Given the description of an element on the screen output the (x, y) to click on. 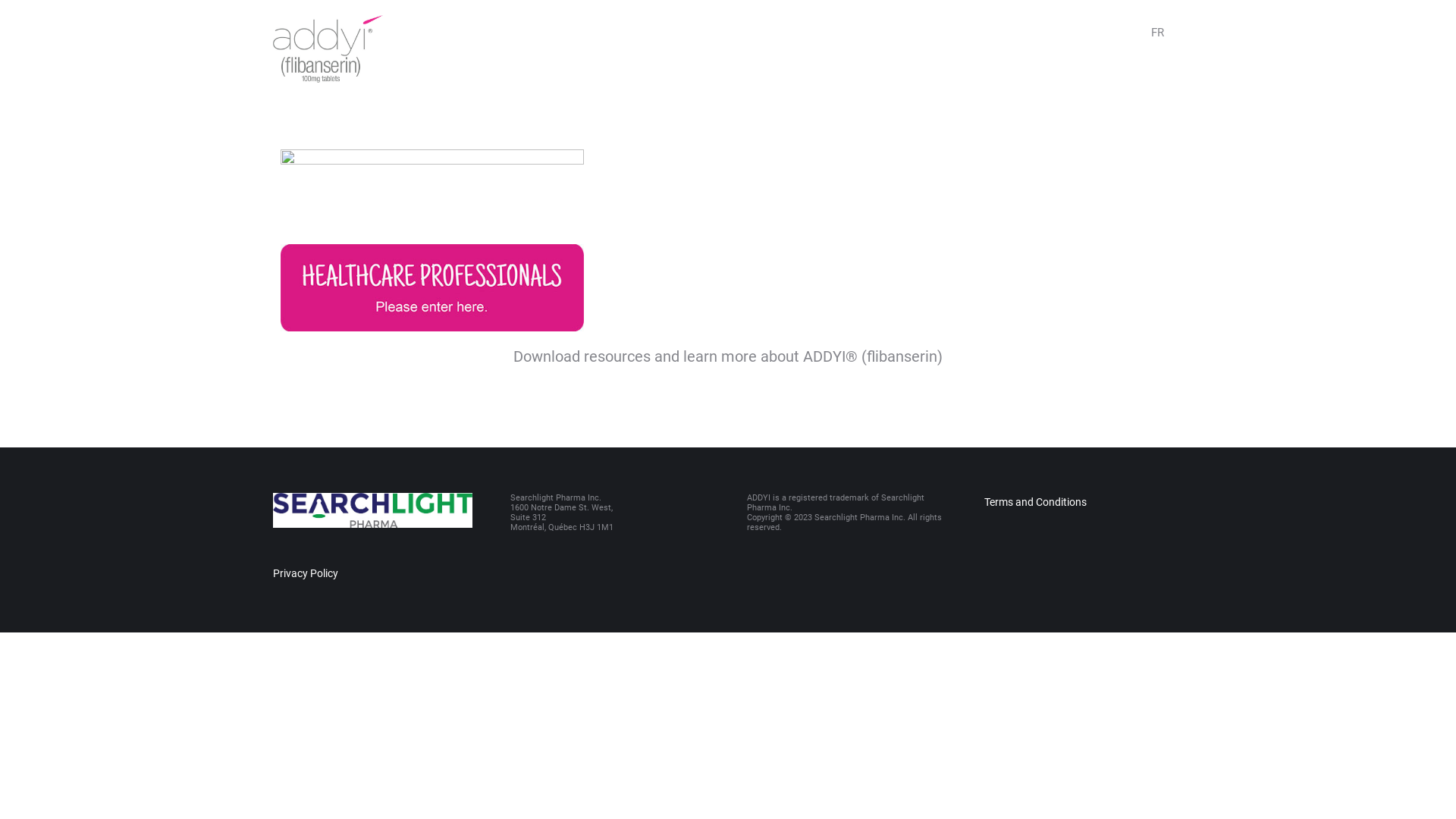
Terms and Conditions Element type: text (1035, 501)
Privacy Policy Element type: text (305, 573)
Go! Element type: text (21, 14)
FR Element type: text (1157, 32)
